Given the description of an element on the screen output the (x, y) to click on. 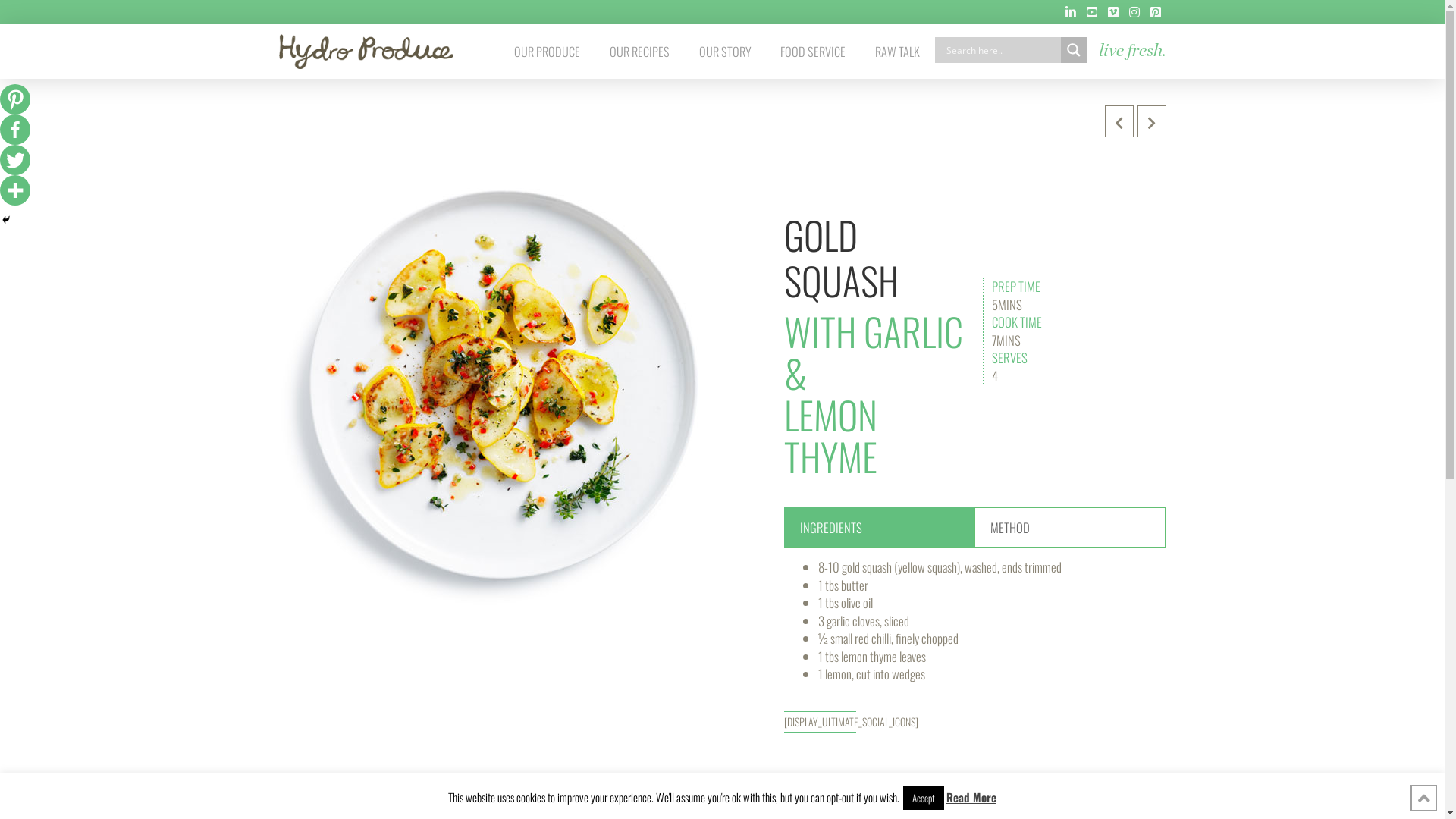
OUR STORY Element type: text (724, 51)
RAW TALK Element type: text (897, 51)
More Element type: hover (15, 190)
OUR RECIPES Element type: text (639, 51)
Accept Element type: text (923, 797)
Hide Element type: hover (6, 219)
Back to Top Element type: hover (1423, 797)
FOOD SERVICE Element type: text (812, 51)
METHOD Element type: text (1069, 527)
Twitter Element type: hover (15, 159)
Facebook Element type: hover (15, 129)
Read More Element type: text (971, 797)
INGREDIENTS Element type: text (879, 527)
OUR PRODUCE Element type: text (547, 51)
Pinterest Element type: hover (15, 99)
